Given the description of an element on the screen output the (x, y) to click on. 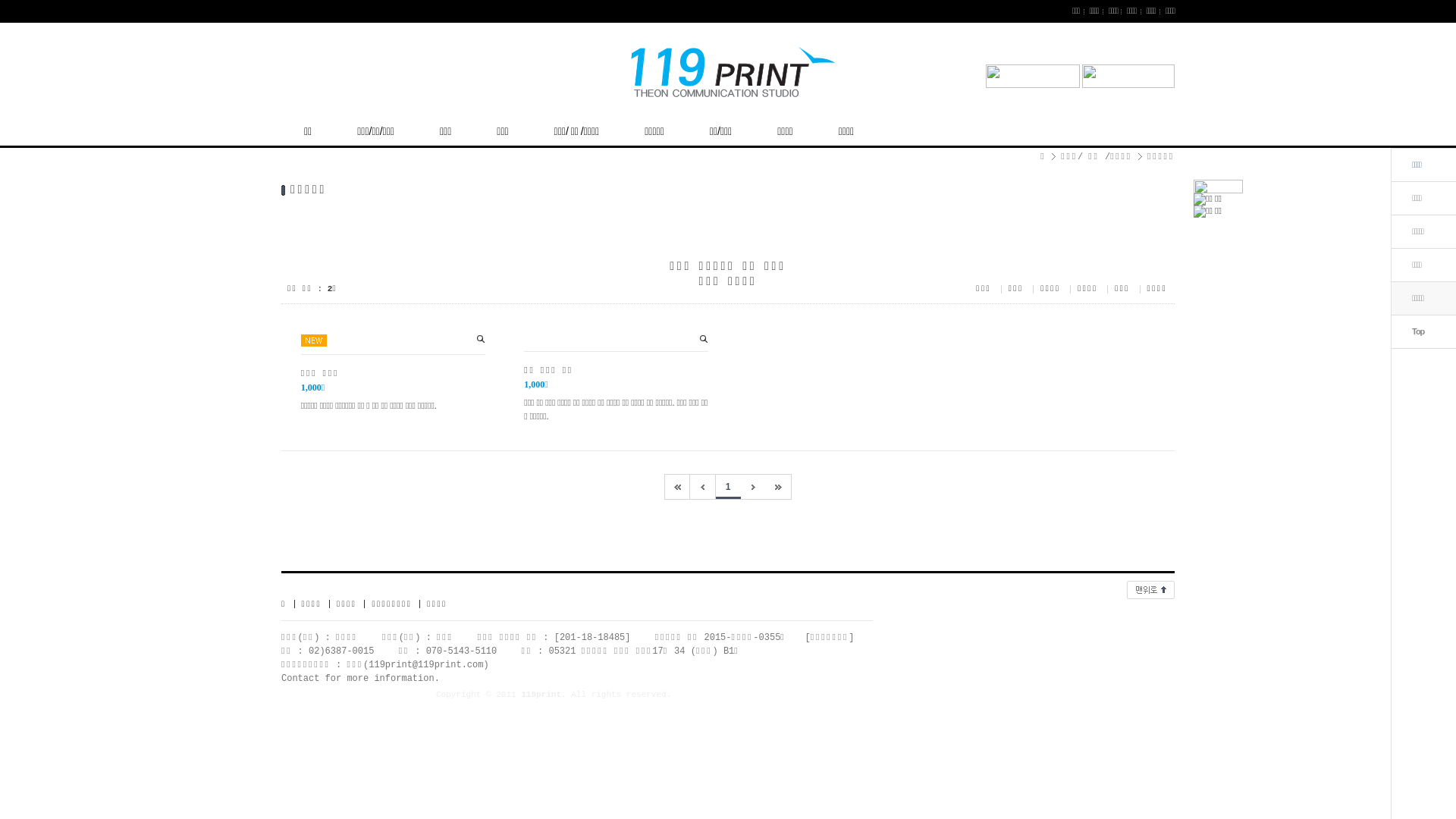
Top Element type: text (1418, 330)
1 Element type: text (727, 486)
